Given the description of an element on the screen output the (x, y) to click on. 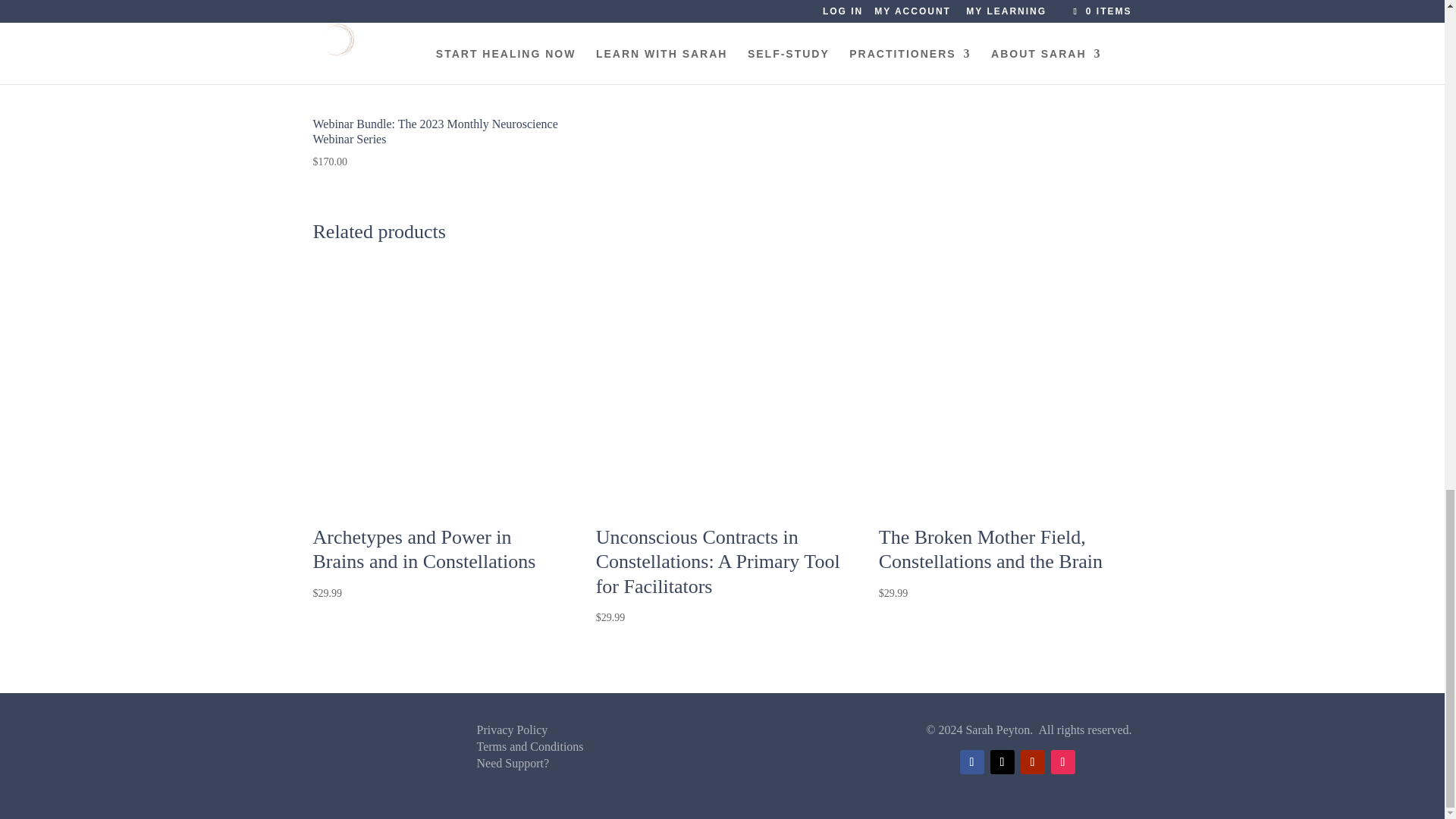
Follow on X (1002, 761)
Follow on Youtube (1032, 761)
Follow on Instagram (1063, 761)
Follow on Facebook (971, 761)
